Given the description of an element on the screen output the (x, y) to click on. 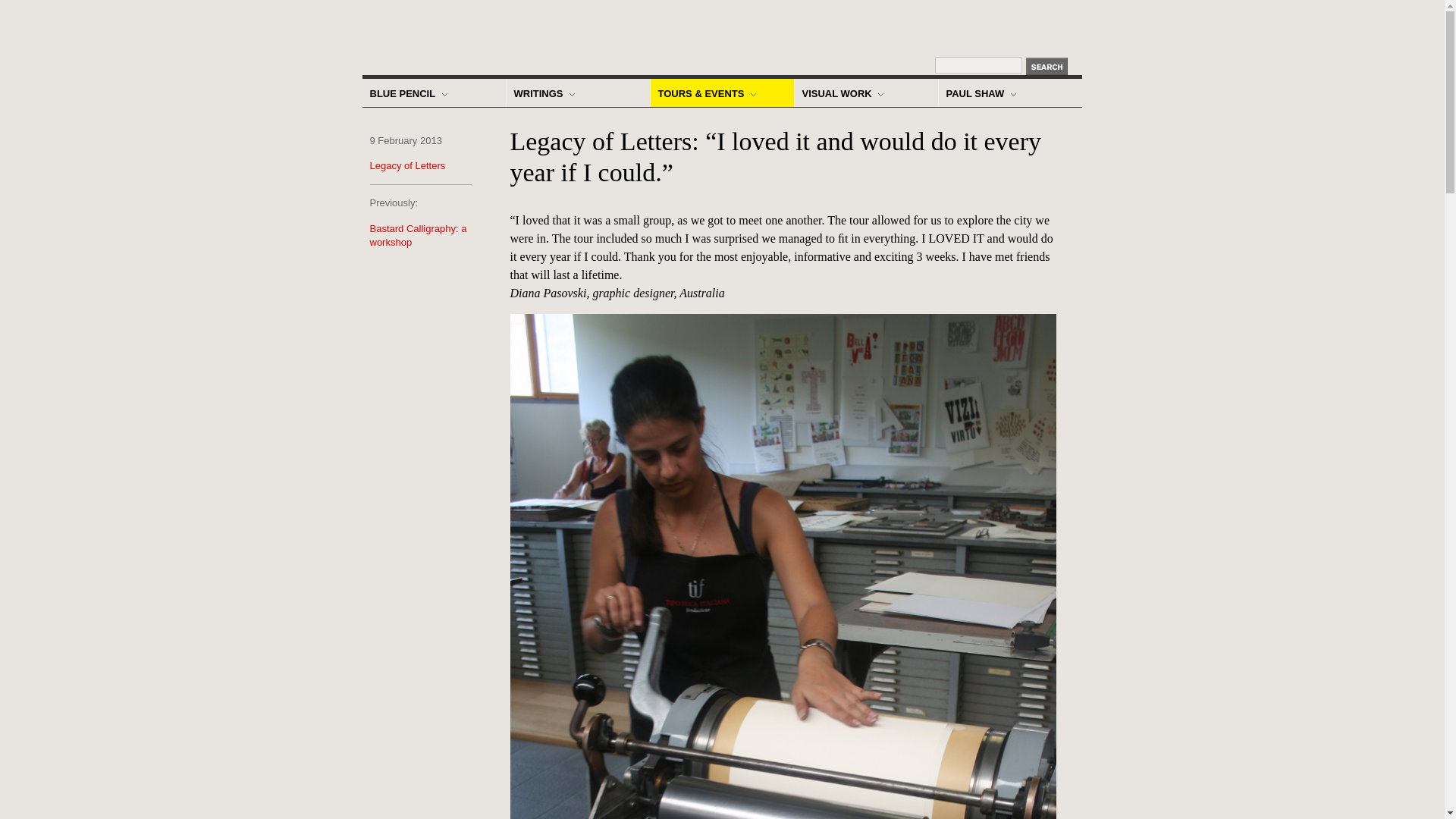
View all posts in Legacy of Letters (407, 165)
WRITINGS (577, 92)
BLUE PENCIL (433, 92)
VISUAL WORK (865, 92)
